Given the description of an element on the screen output the (x, y) to click on. 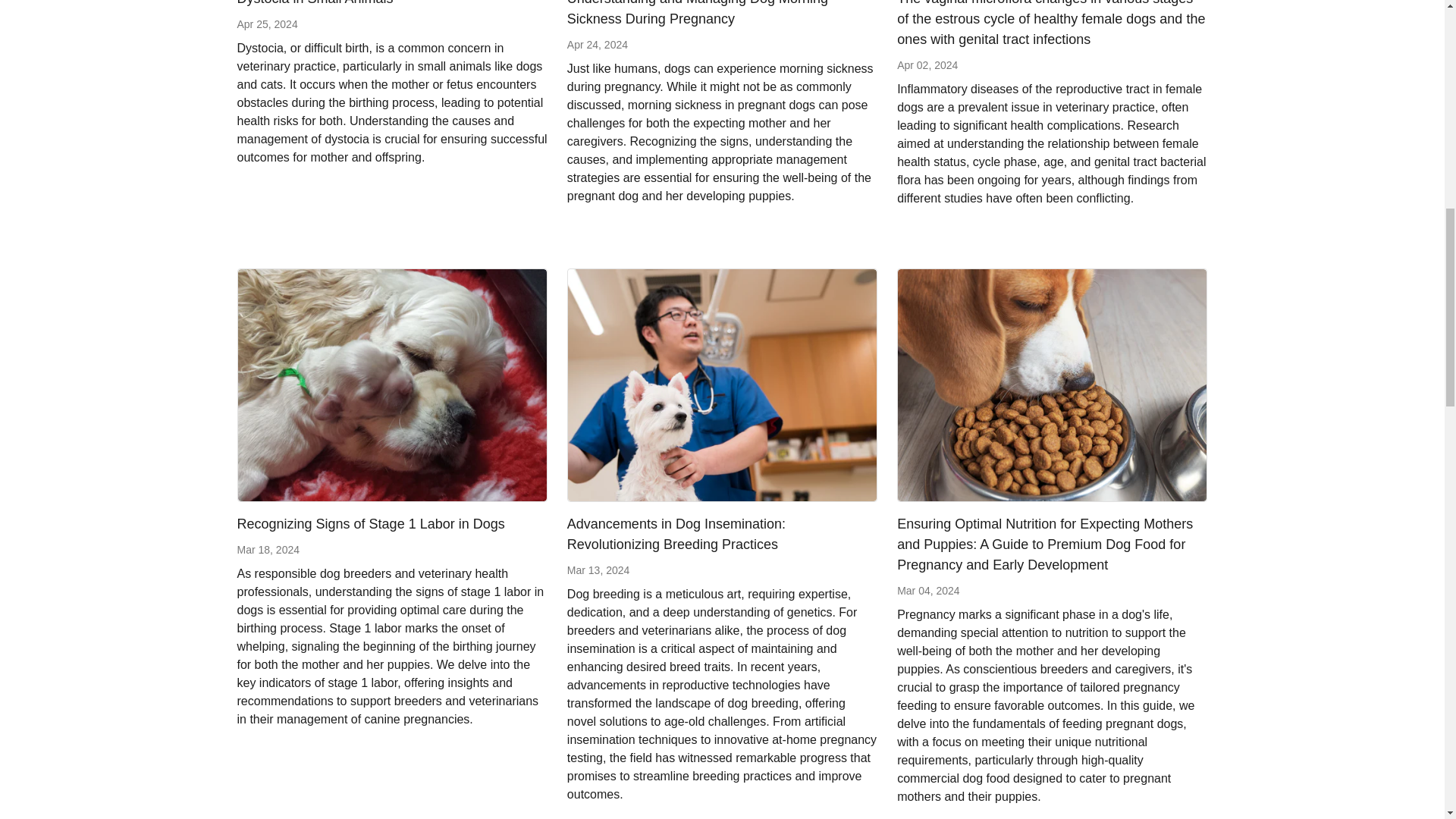
Recognizing Signs of Stage 1 Labor in Dogs (391, 384)
Dystocia in Small Animals (314, 2)
Recognizing Signs of Stage 1 Labor in Dogs (369, 523)
